Given the description of an element on the screen output the (x, y) to click on. 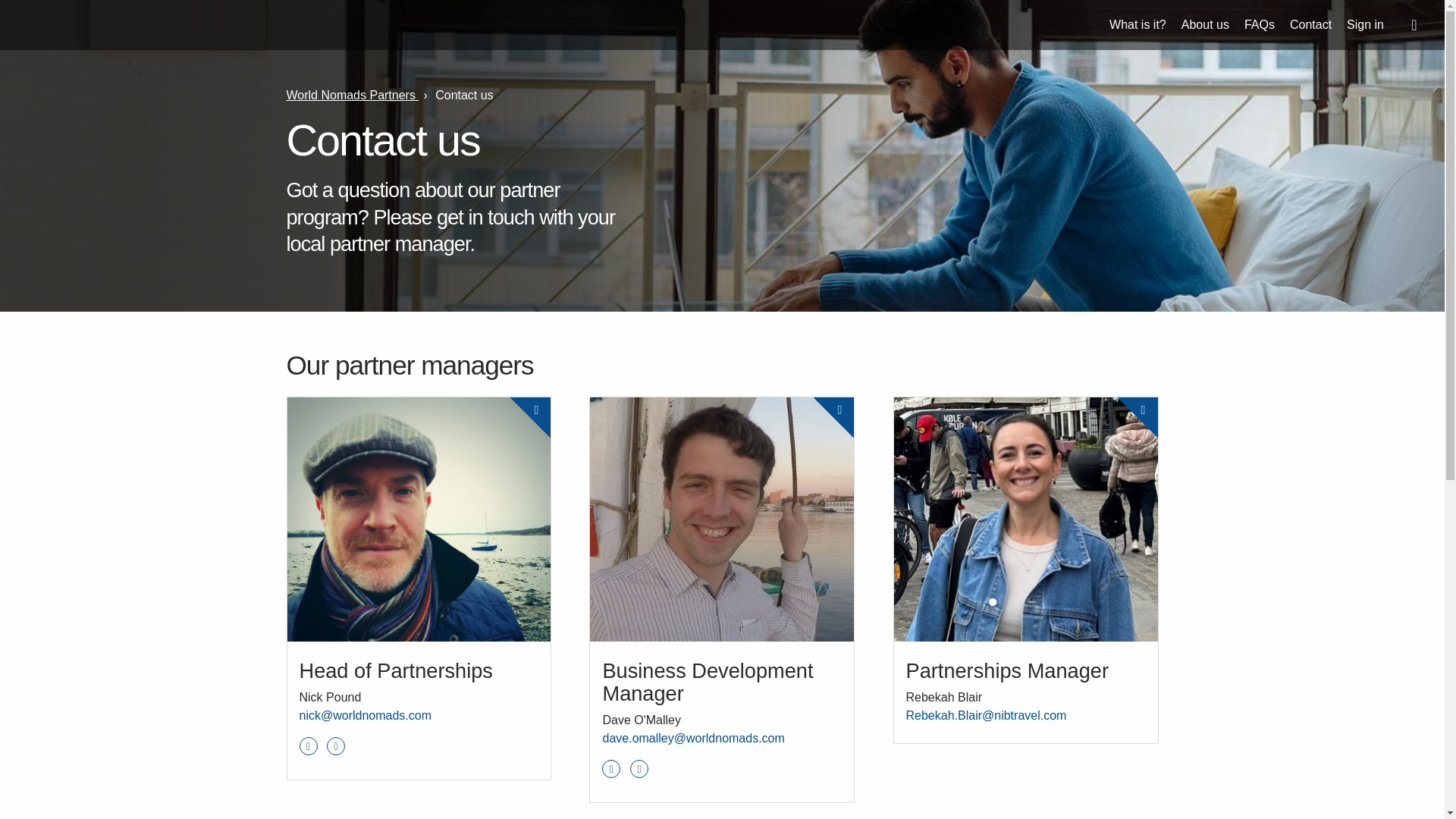
Contact (1311, 24)
Sign in (1365, 24)
Email Nick (364, 715)
Email Dave (693, 738)
World Nomads (66, 25)
What is it? (1137, 24)
Find on Linked In (611, 769)
World Nomads Partners (352, 94)
Contact us (464, 94)
View additional information (540, 378)
